Given the description of an element on the screen output the (x, y) to click on. 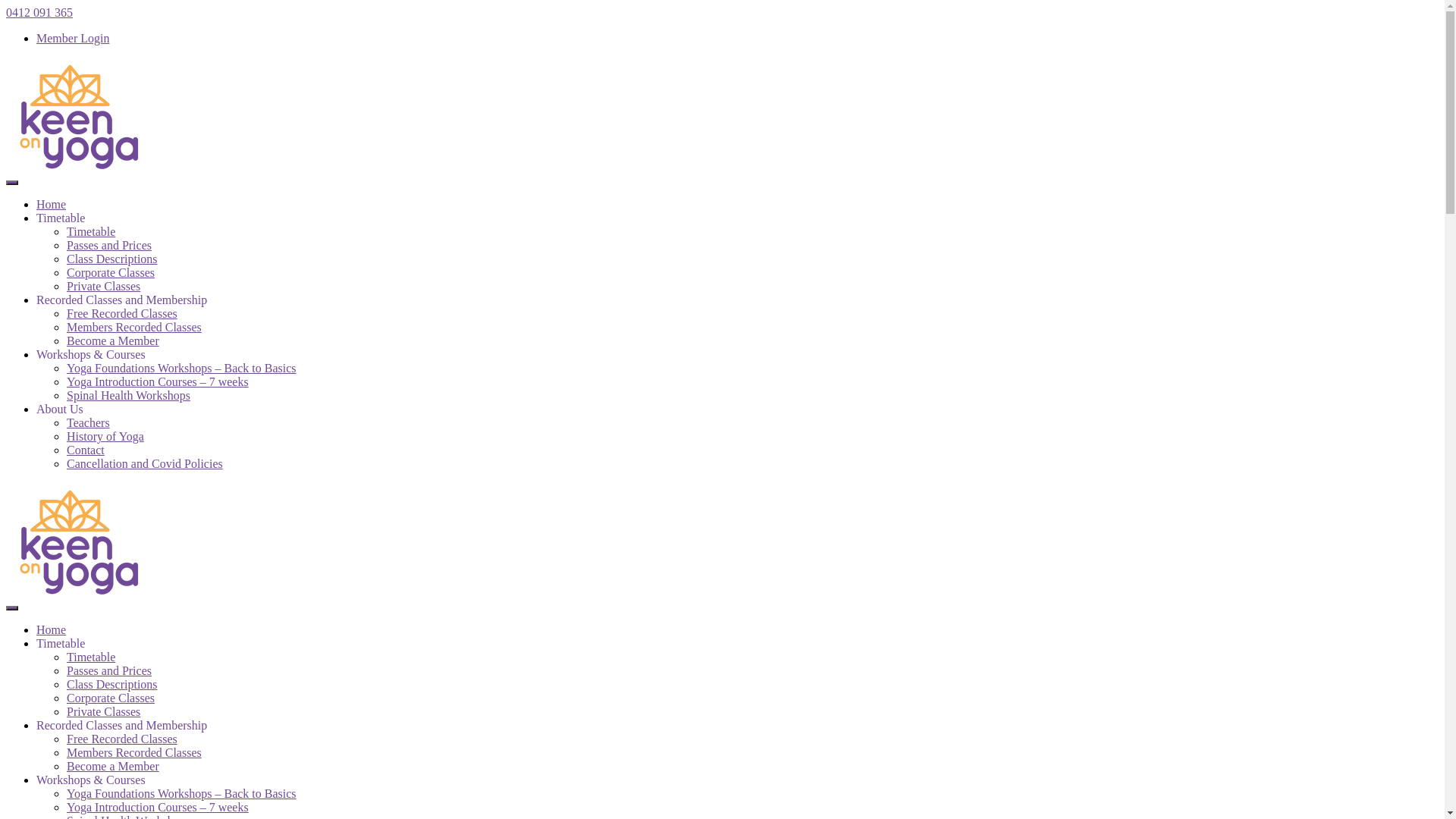
Workshops & Courses Element type: text (90, 779)
Private Classes Element type: text (103, 285)
About Us Element type: text (59, 408)
Timetable Element type: text (90, 231)
Corporate Classes Element type: text (110, 697)
Class Descriptions Element type: text (111, 258)
Passes and Prices Element type: text (108, 244)
Timetable Element type: text (60, 217)
Cancellation and Covid Policies Element type: text (144, 463)
0412 091 365 Element type: text (39, 12)
Member Login Element type: text (72, 37)
Teachers Element type: text (87, 422)
Members Recorded Classes Element type: text (133, 752)
Free Recorded Classes Element type: text (121, 313)
Class Descriptions Element type: text (111, 683)
Workshops & Courses Element type: text (90, 354)
Private Classes Element type: text (103, 711)
Spinal Health Workshops Element type: text (128, 395)
Corporate Classes Element type: text (110, 272)
Become a Member Element type: text (112, 765)
Skip to content Element type: text (5, 5)
Contact Element type: text (85, 449)
Become a Member Element type: text (112, 340)
Timetable Element type: text (60, 643)
Recorded Classes and Membership Element type: text (121, 724)
Timetable Element type: text (90, 656)
Home Element type: text (50, 629)
Members Recorded Classes Element type: text (133, 326)
Home Element type: text (50, 203)
History of Yoga Element type: text (105, 435)
Passes and Prices Element type: text (108, 670)
Free Recorded Classes Element type: text (121, 738)
Recorded Classes and Membership Element type: text (121, 299)
